Given the description of an element on the screen output the (x, y) to click on. 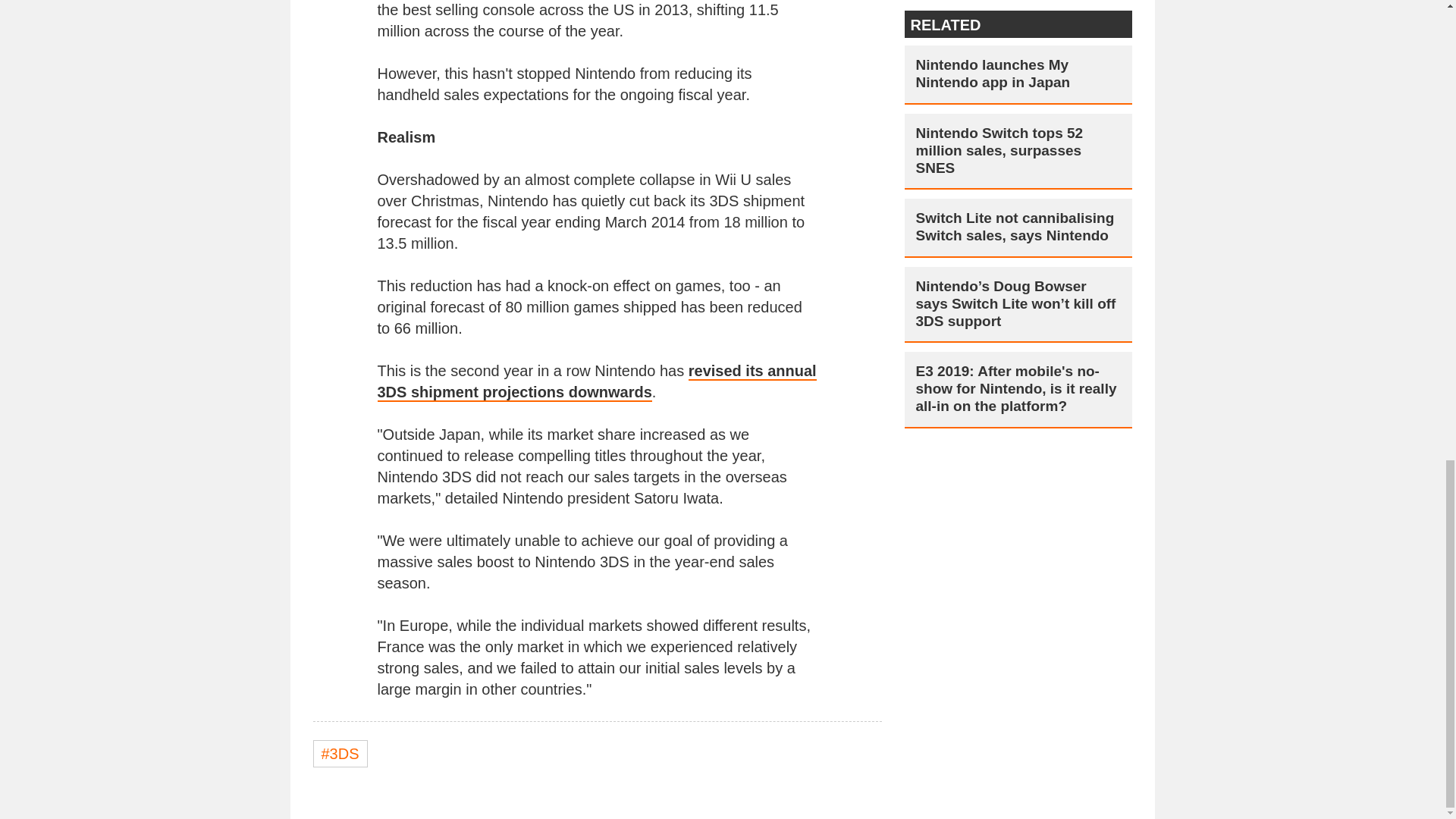
Nintendo launches My Nintendo app in Japan (1017, 74)
Switch Lite not cannibalising Switch sales, says Nintendo (1017, 227)
revised its annual 3DS shipment projections downwards (596, 382)
Nintendo Switch tops 52 million sales, surpasses SNES (1017, 150)
